Given the description of an element on the screen output the (x, y) to click on. 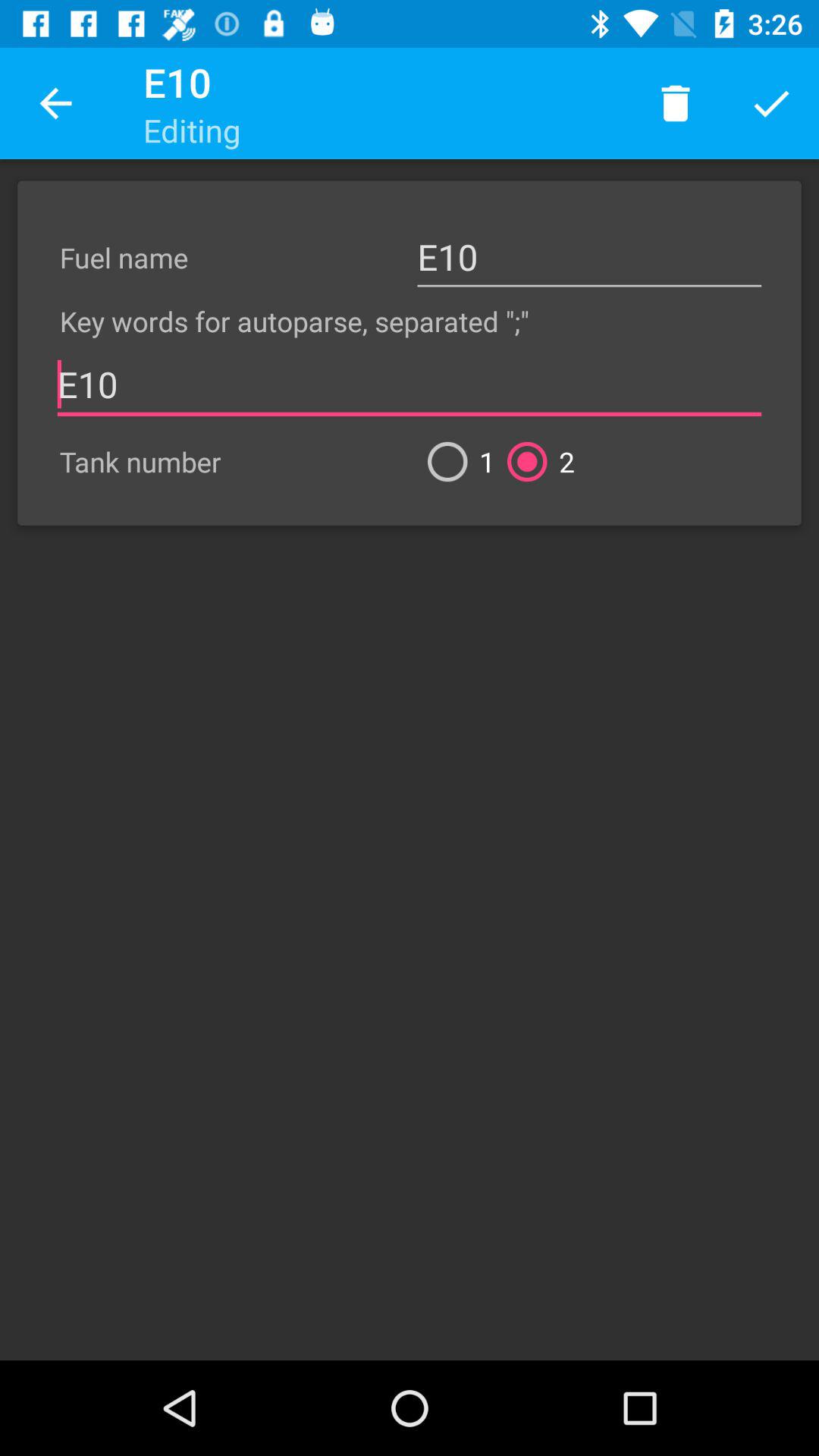
choose the icon below e10 icon (535, 461)
